Given the description of an element on the screen output the (x, y) to click on. 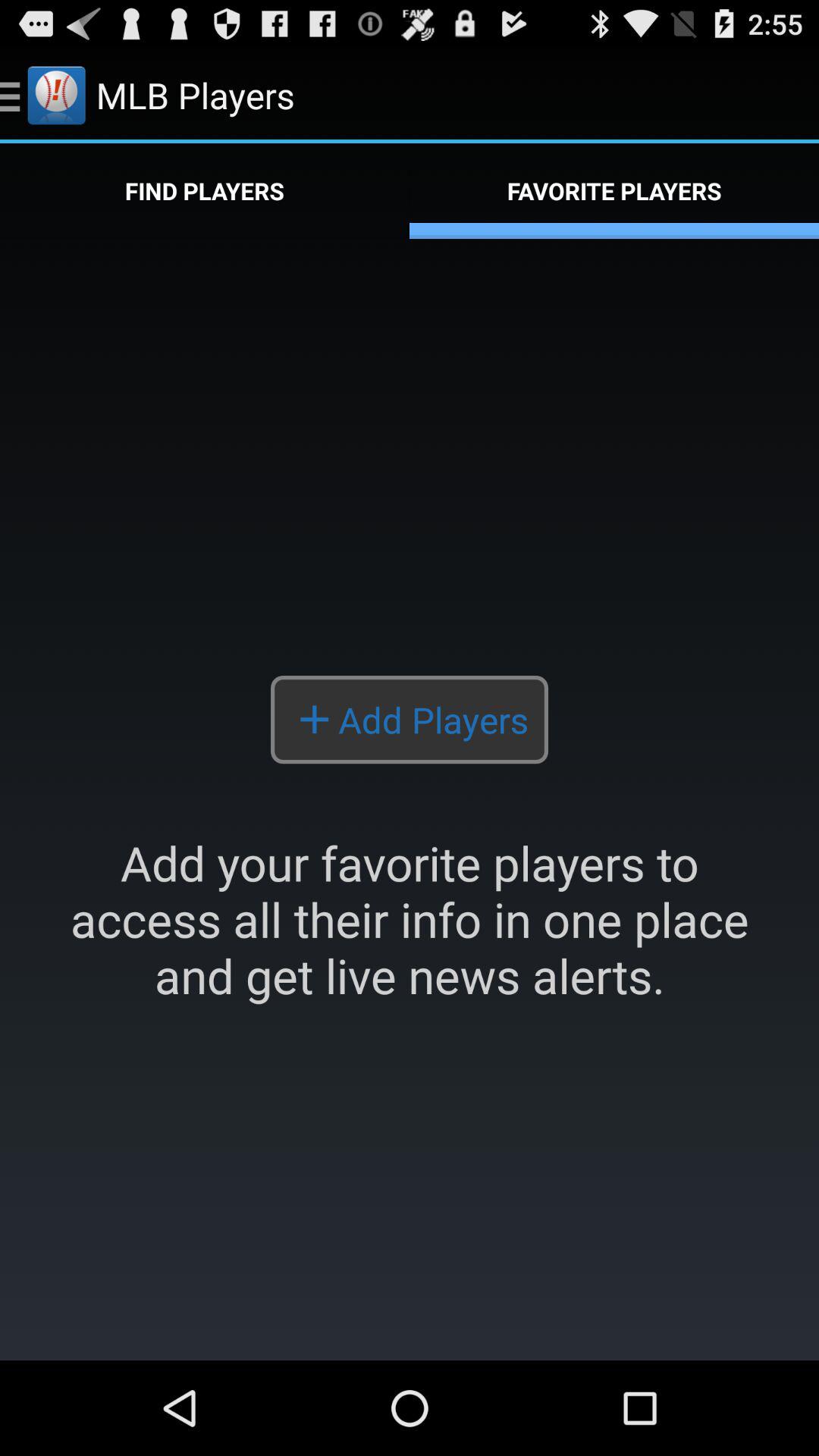
flip to find players (204, 190)
